Given the description of an element on the screen output the (x, y) to click on. 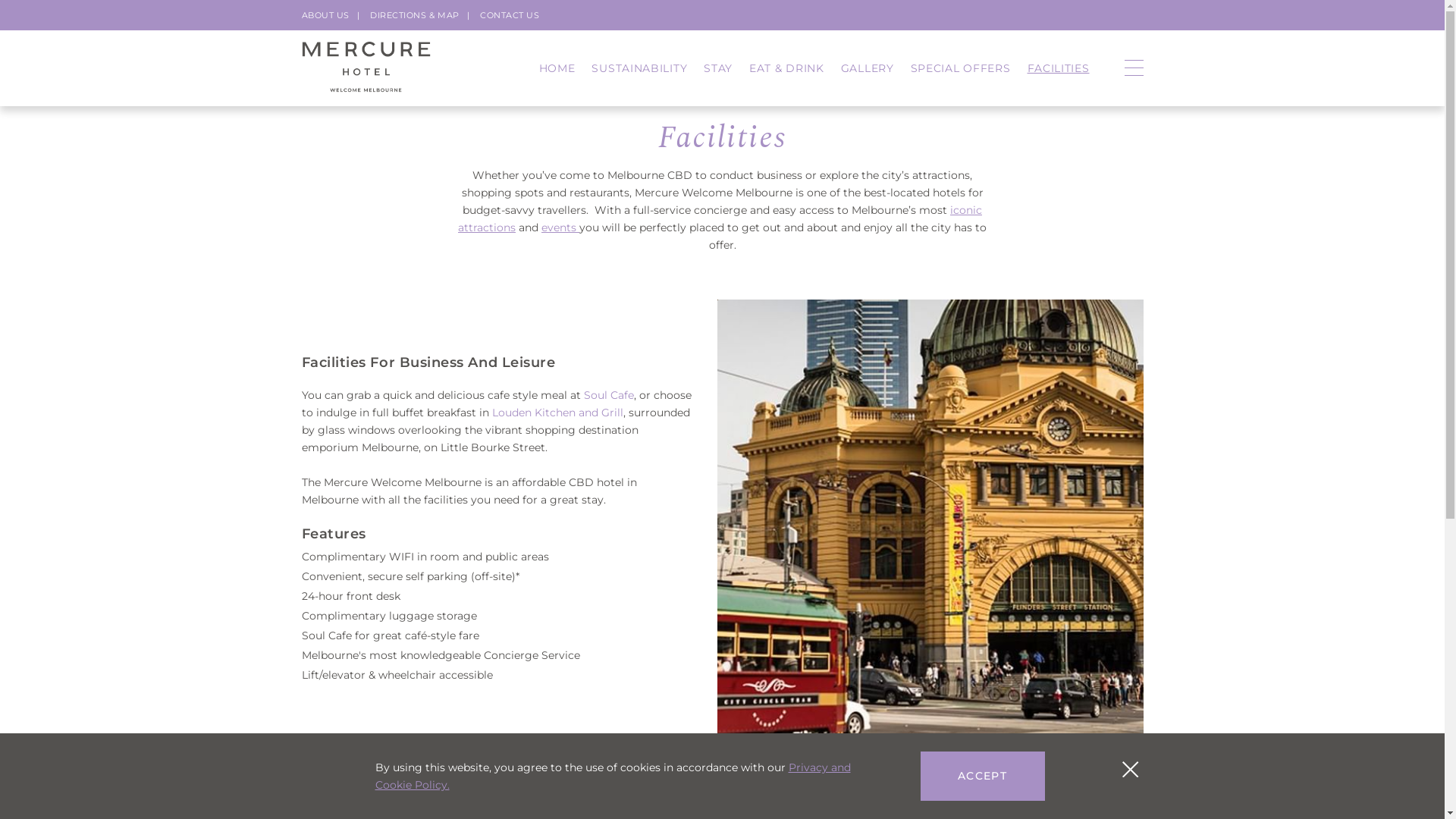
Soul Cafe Element type: text (608, 394)
1 Adult, 0 Children Element type: text (691, 20)
GALLERY Element type: text (867, 68)
CONTACT US Element type: text (509, 14)
SPECIAL OFFERS Element type: text (960, 68)
CHECK AVAILABILITY Element type: text (1070, 20)
Louden Kitchen and Grill Element type: text (556, 412)
ABOUT US Element type: text (325, 14)
DIRECTIONS & MAP Element type: text (414, 14)
ACCEPT Element type: text (982, 775)
SUSTAINABILITY Element type: text (639, 68)
STAY Element type: text (717, 68)
HOME Element type: text (557, 68)
EAT & DRINK Element type: text (786, 68)
events Element type: text (560, 227)
FACILITIES Element type: text (1057, 68)
Privacy and Cookie Policy. Element type: text (612, 775)
iconic attractions Element type: text (720, 218)
